Given the description of an element on the screen output the (x, y) to click on. 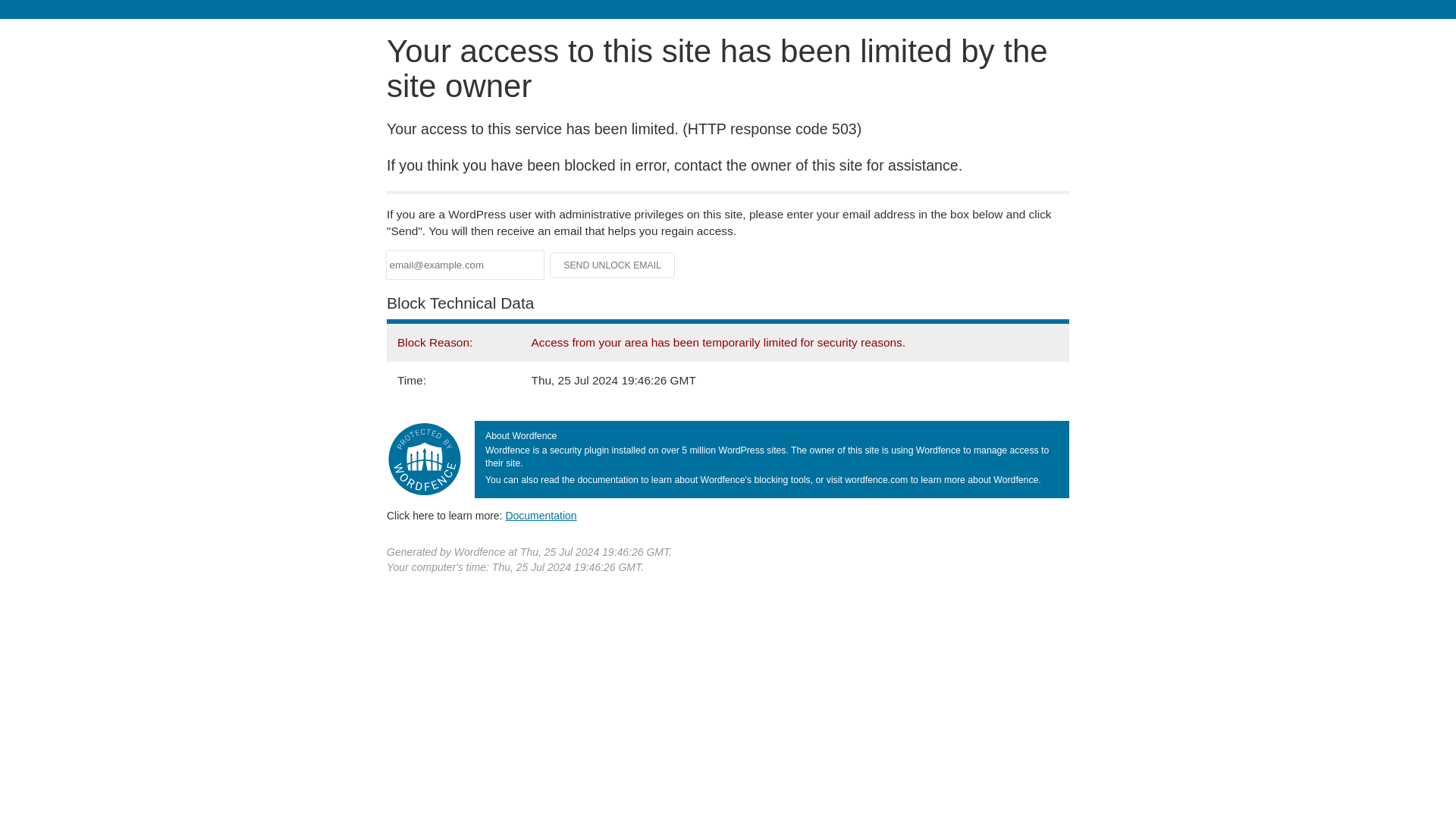
Documentation (540, 515)
Send Unlock Email (612, 265)
Send Unlock Email (612, 265)
